Given the description of an element on the screen output the (x, y) to click on. 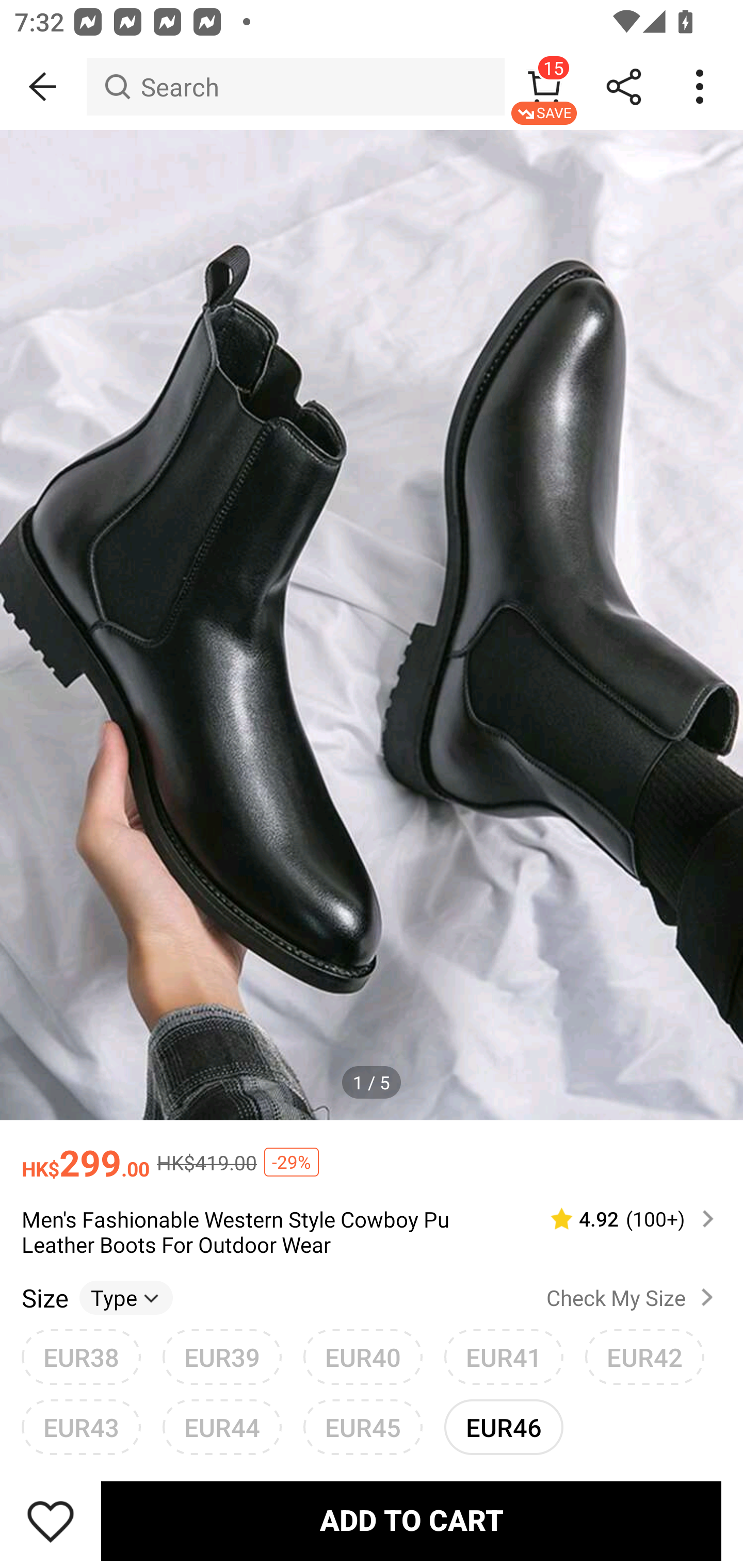
BACK (43, 86)
15 SAVE (543, 87)
Search (295, 87)
1 / 5 (371, 1082)
HK$299.00 HK$419.00 -29% (371, 1152)
4.92 (100‎+) (623, 1219)
Size (44, 1297)
Type (126, 1297)
Check My Size (633, 1297)
EUR38 EUR42 (81, 1356)
EUR39 EUR43 (221, 1356)
EUR40 EUR44 (362, 1356)
EUR41 EUR45 (503, 1356)
EUR42 EUR46 (644, 1356)
EUR43 (81, 1426)
EUR44 (221, 1426)
EUR45 (362, 1426)
EUR46 unselected option (503, 1426)
ADD TO CART (411, 1520)
Save (50, 1520)
